Given the description of an element on the screen output the (x, y) to click on. 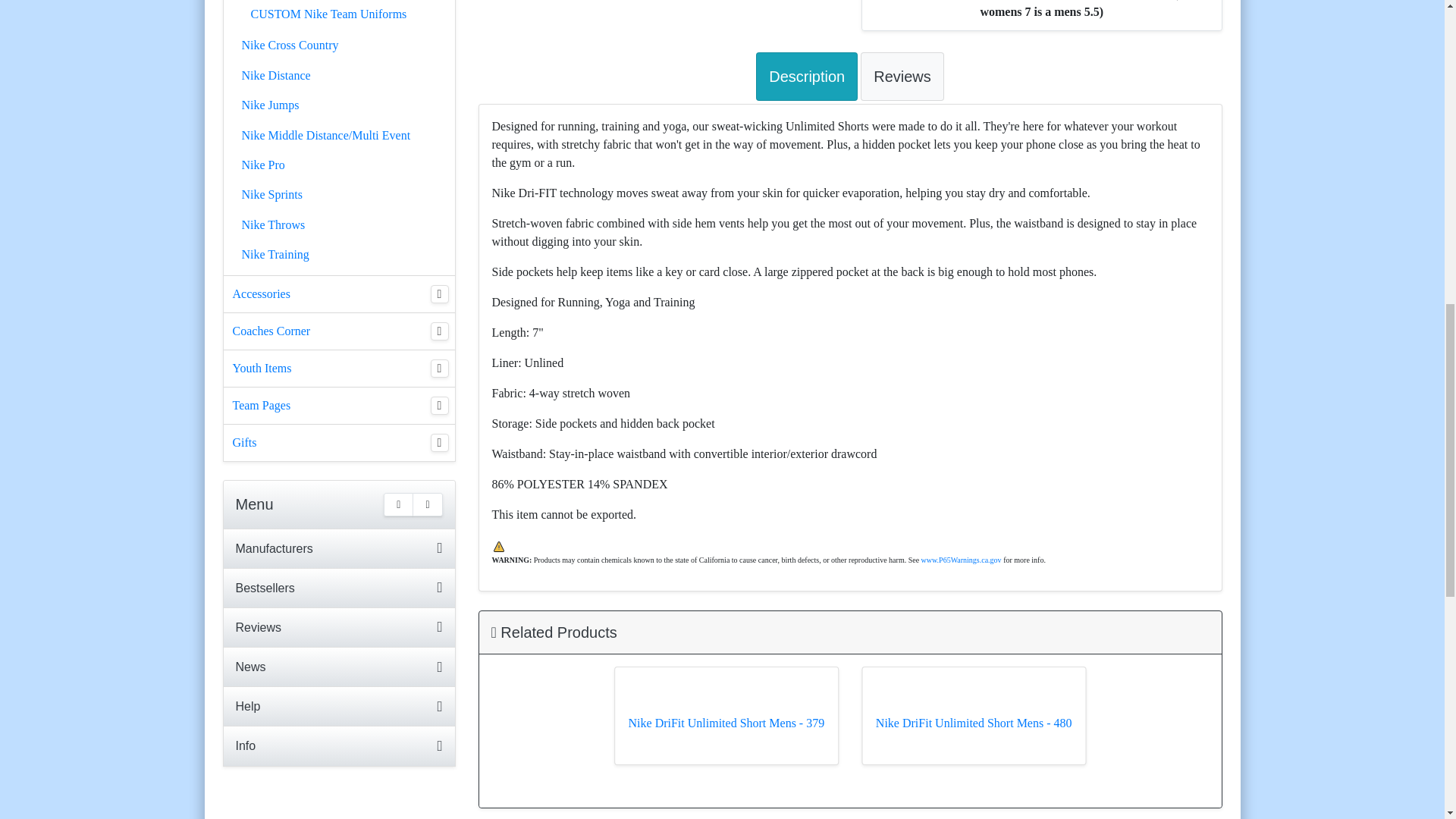
Nike DriFit Unlimited Short Mens - 379 (726, 730)
